Given the description of an element on the screen output the (x, y) to click on. 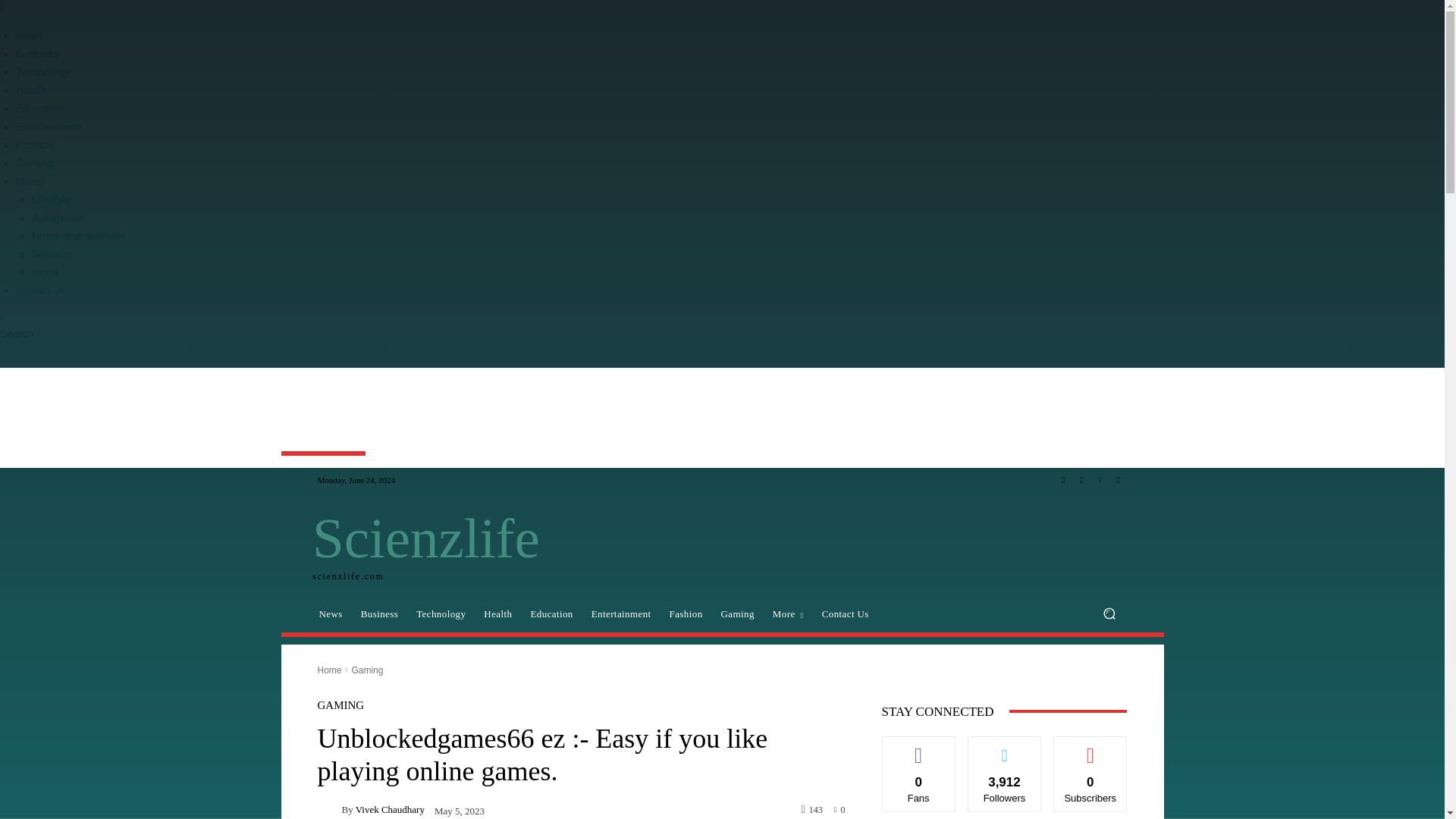
Health (31, 90)
Facebook (1062, 479)
News (329, 614)
Automotive (58, 217)
Entertainment (48, 126)
Home Improvement (78, 235)
Fashion (34, 144)
Health (497, 614)
Technology (440, 614)
Entertainment (621, 614)
